Given the description of an element on the screen output the (x, y) to click on. 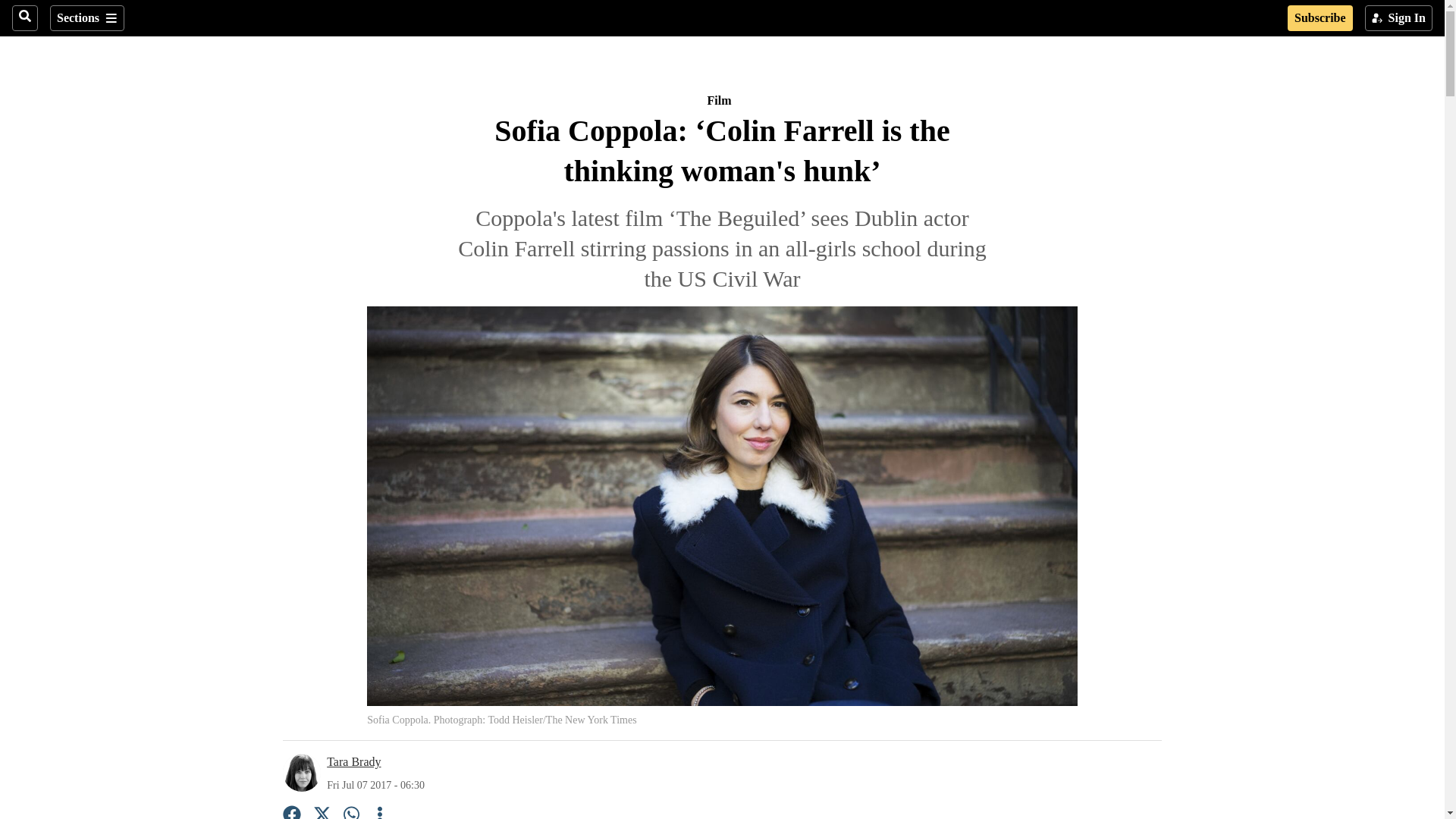
WhatsApp (352, 812)
X (322, 812)
Sections (86, 17)
Subscribe (1319, 17)
Sign In (1398, 17)
Facebook (291, 812)
